Given the description of an element on the screen output the (x, y) to click on. 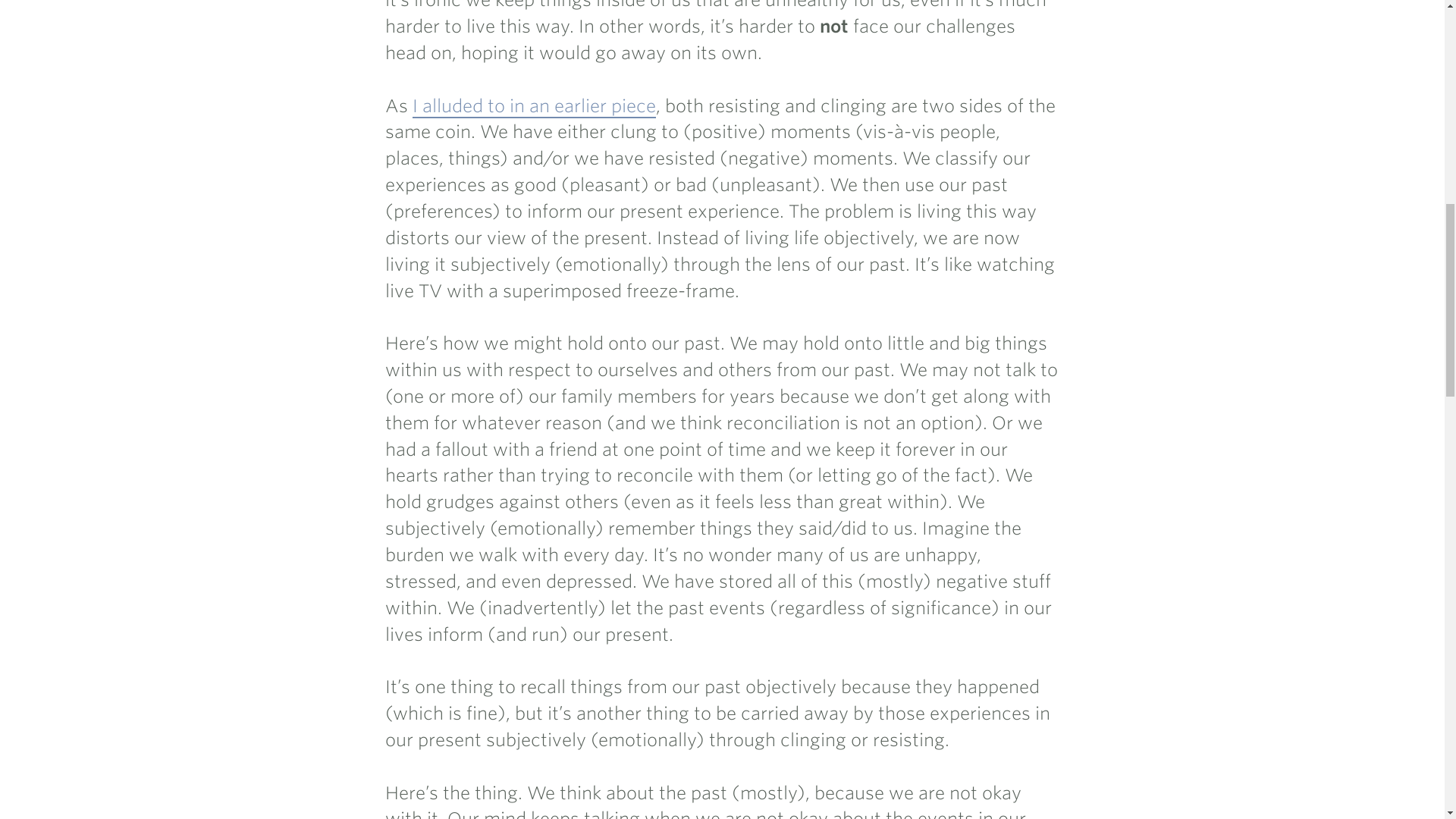
I alluded to in an earlier piece (534, 106)
